Given the description of an element on the screen output the (x, y) to click on. 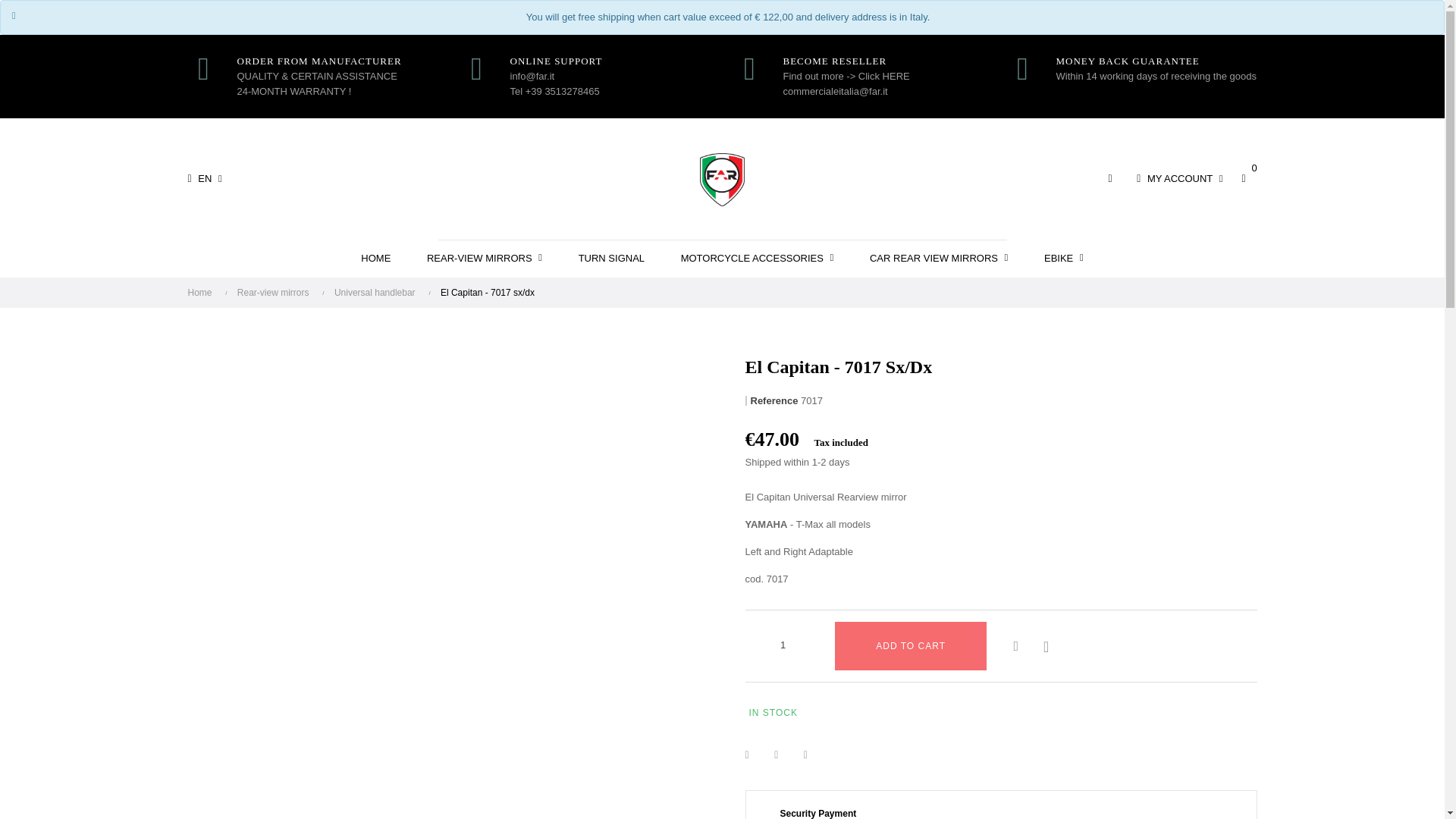
Pinterest (815, 754)
Tweet (785, 754)
Account (1180, 178)
1 (782, 644)
BECOME RESELLER (883, 61)
Share (755, 754)
